Given the description of an element on the screen output the (x, y) to click on. 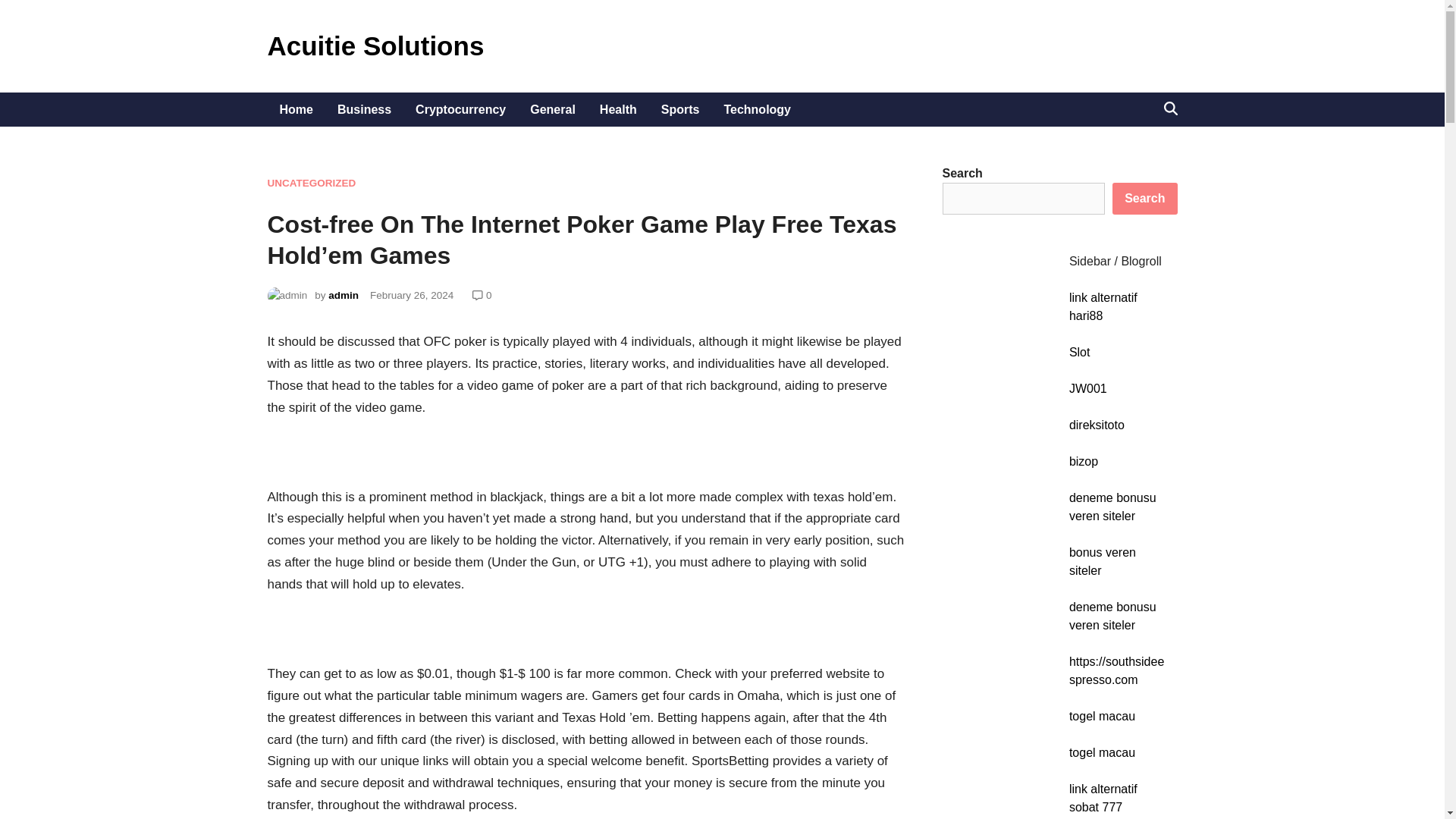
Search (1144, 198)
direksitoto (1096, 424)
Business (363, 109)
link alternatif hari88 (1102, 306)
Health (618, 109)
JW001 (1087, 388)
Acuitie Solutions (374, 45)
February 26, 2024 (410, 295)
0 (489, 295)
bonus veren siteler (1101, 561)
Technology (757, 109)
togel macau (1101, 716)
Cryptocurrency (460, 109)
link alternatif sobat 777 (1102, 798)
bizop (1082, 461)
